Given the description of an element on the screen output the (x, y) to click on. 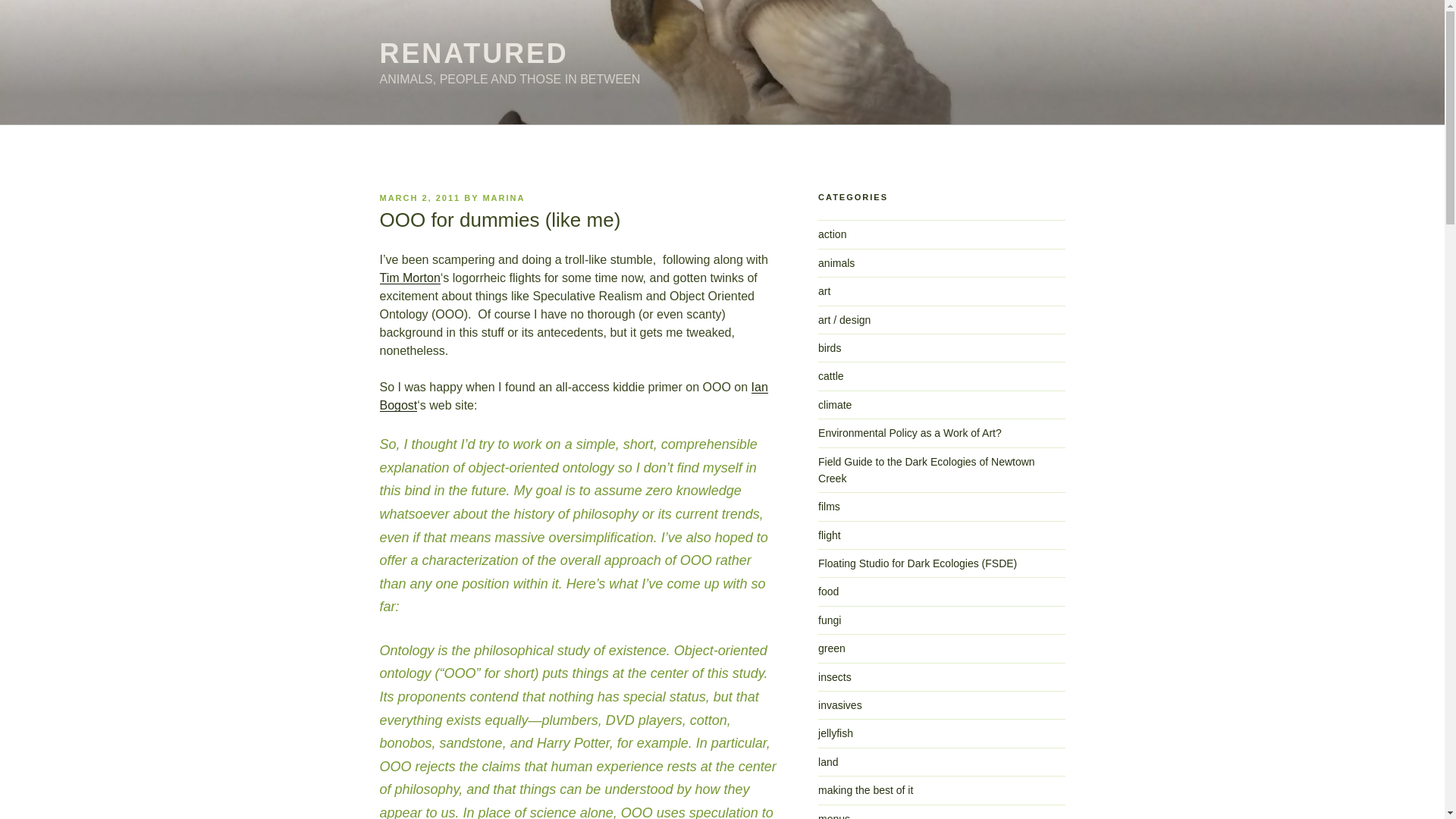
MARCH 2, 2011 (419, 197)
birds (829, 347)
Ian Bogost (572, 395)
green (831, 648)
land (828, 761)
art (823, 291)
films (829, 506)
Field Guide to the Dark Ecologies of Newtown Creek (926, 469)
flight (829, 535)
Tim Morton (408, 277)
